Given the description of an element on the screen output the (x, y) to click on. 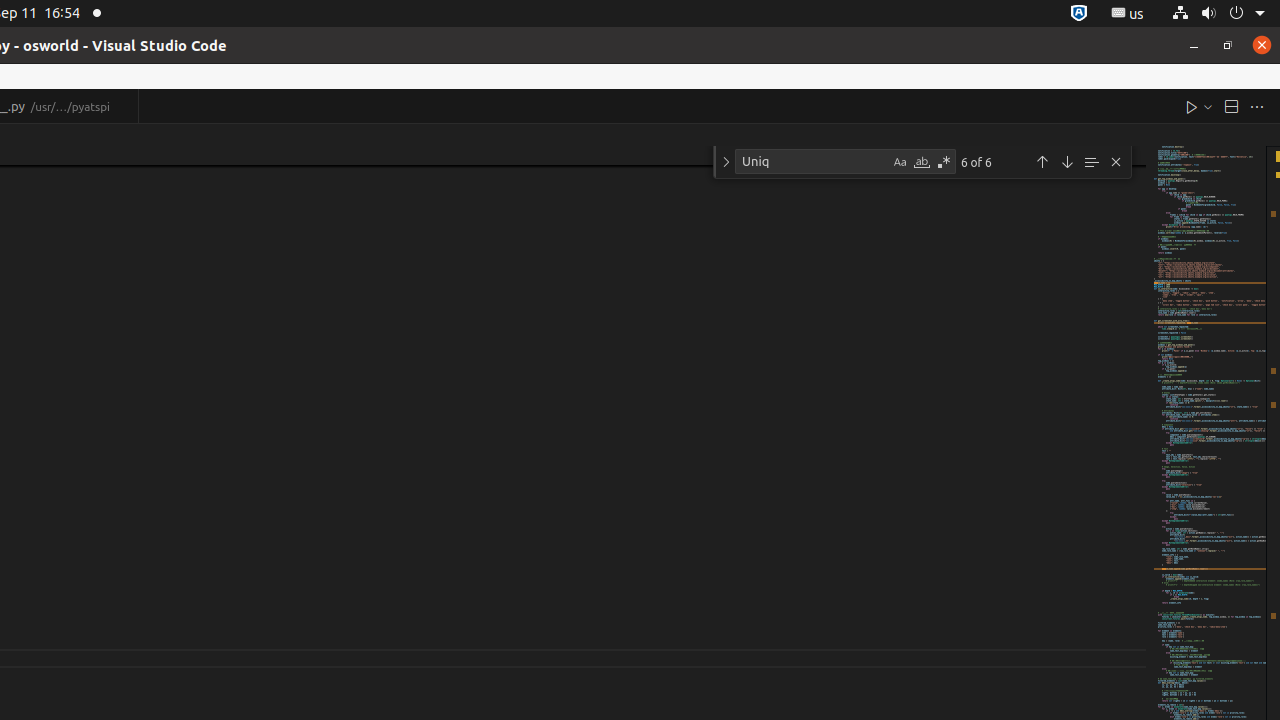
Match Case (Alt+C) Element type: check-box (900, 162)
Split Editor Right (Ctrl+\) [Alt] Split Editor Down Element type: push-button (1231, 106)
Run Python File Element type: push-button (1192, 106)
More Actions... Element type: push-button (1257, 106)
Run or Debug... Element type: push-button (1208, 106)
